Given the description of an element on the screen output the (x, y) to click on. 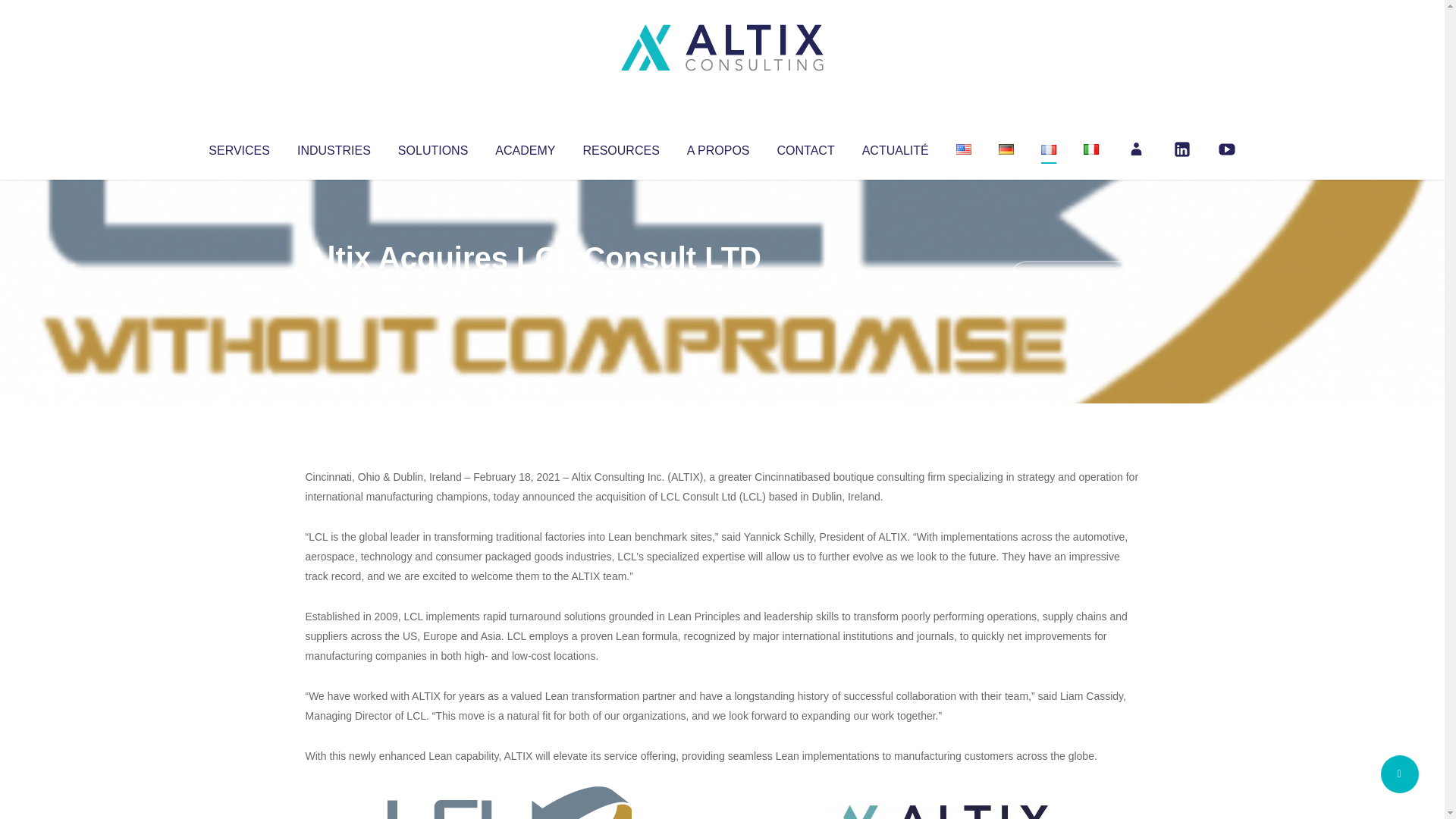
INDUSTRIES (334, 146)
SOLUTIONS (432, 146)
Altix (333, 287)
SERVICES (238, 146)
Articles par Altix (333, 287)
A PROPOS (718, 146)
No Comments (1073, 278)
RESOURCES (620, 146)
ACADEMY (524, 146)
Uncategorized (530, 287)
